Given the description of an element on the screen output the (x, y) to click on. 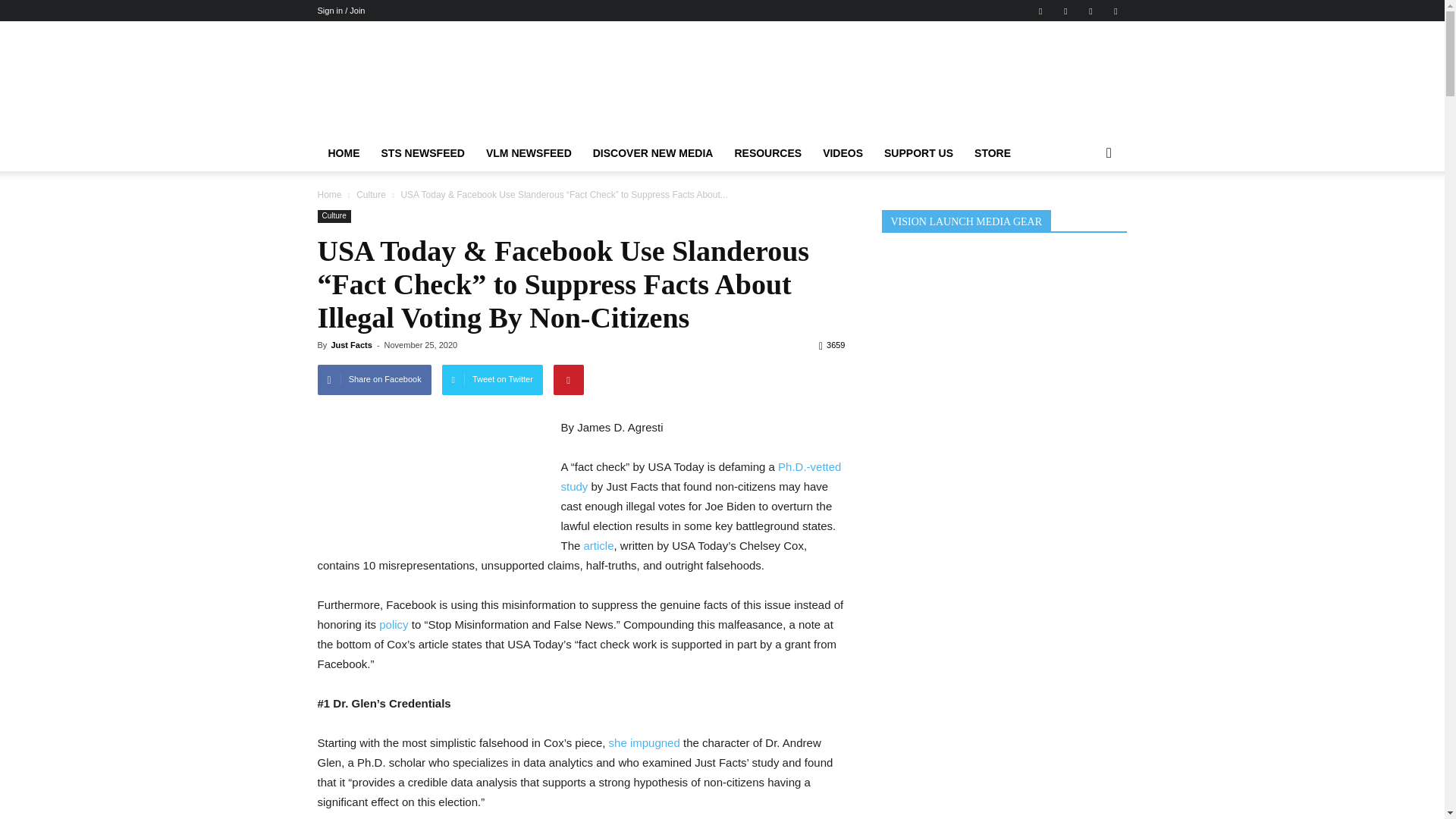
Linkedin (1065, 10)
Twitter (1114, 10)
RSS (1090, 10)
Facebook (1040, 10)
